Given the description of an element on the screen output the (x, y) to click on. 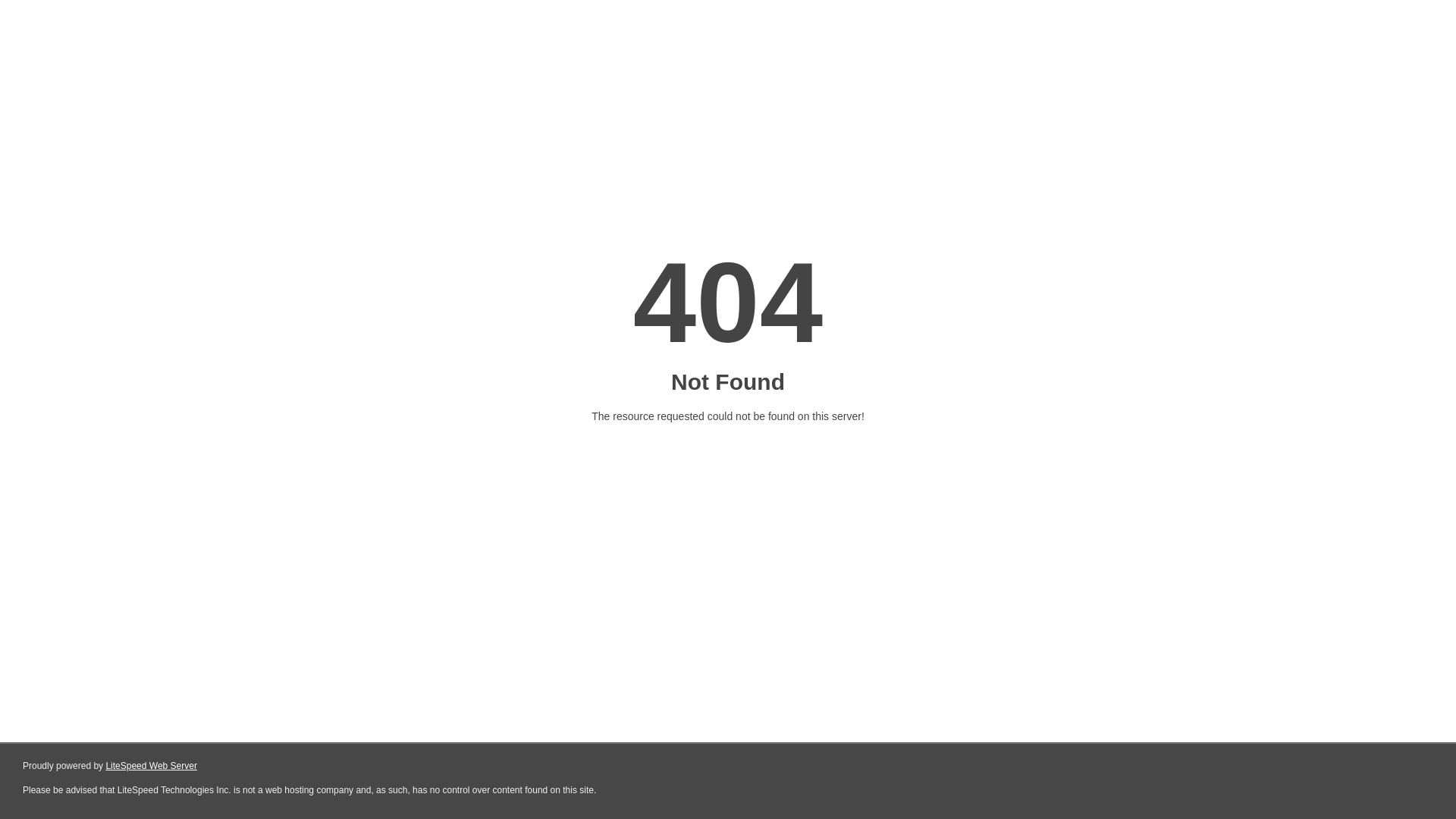
LiteSpeed Web Server Element type: text (151, 765)
